Given the description of an element on the screen output the (x, y) to click on. 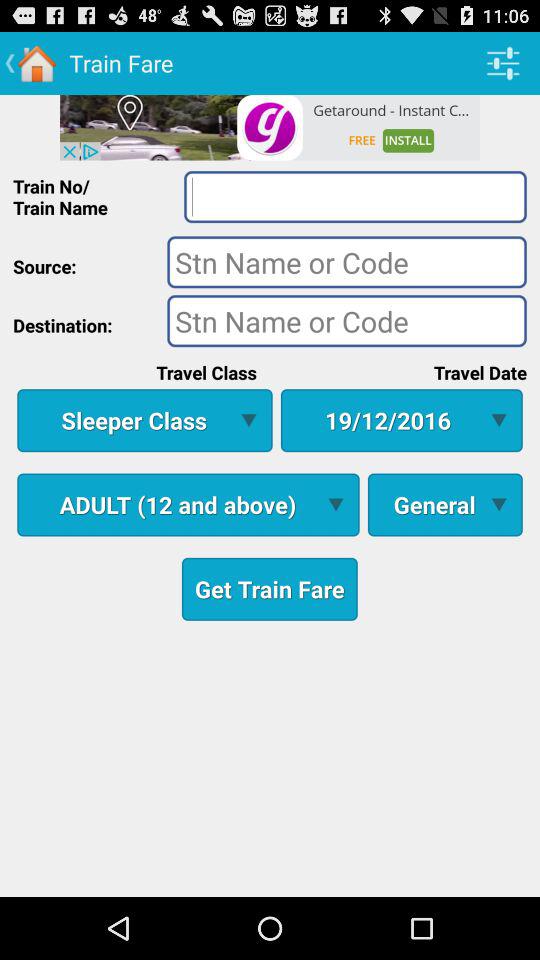
add search option (355, 196)
